Given the description of an element on the screen output the (x, y) to click on. 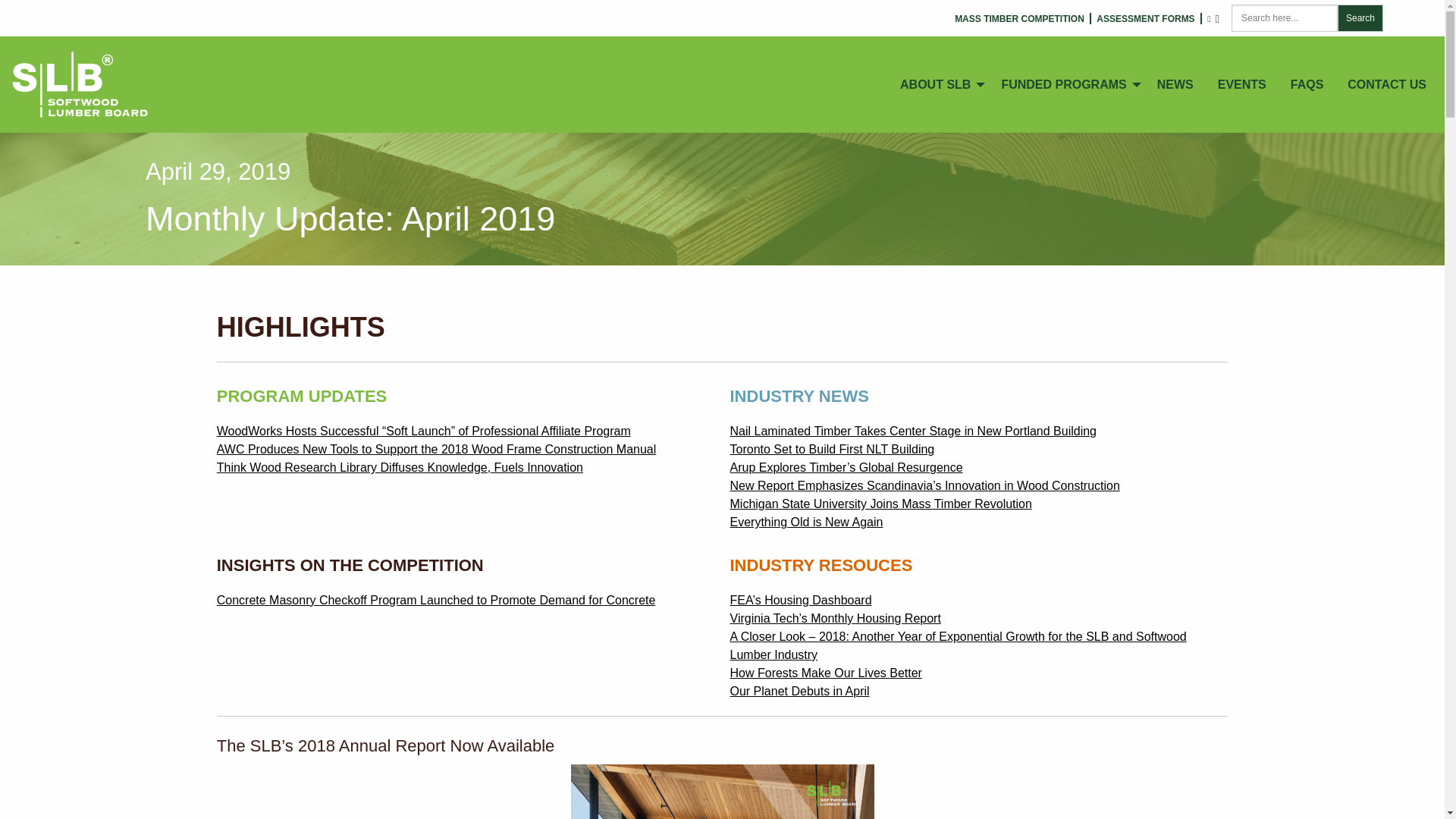
Search (1360, 17)
ASSESSMENT FORMS (1144, 18)
Search (1360, 17)
ABOUT SLB (938, 84)
MASS TIMBER COMPETITION (1019, 18)
Search (1360, 17)
